Given the description of an element on the screen output the (x, y) to click on. 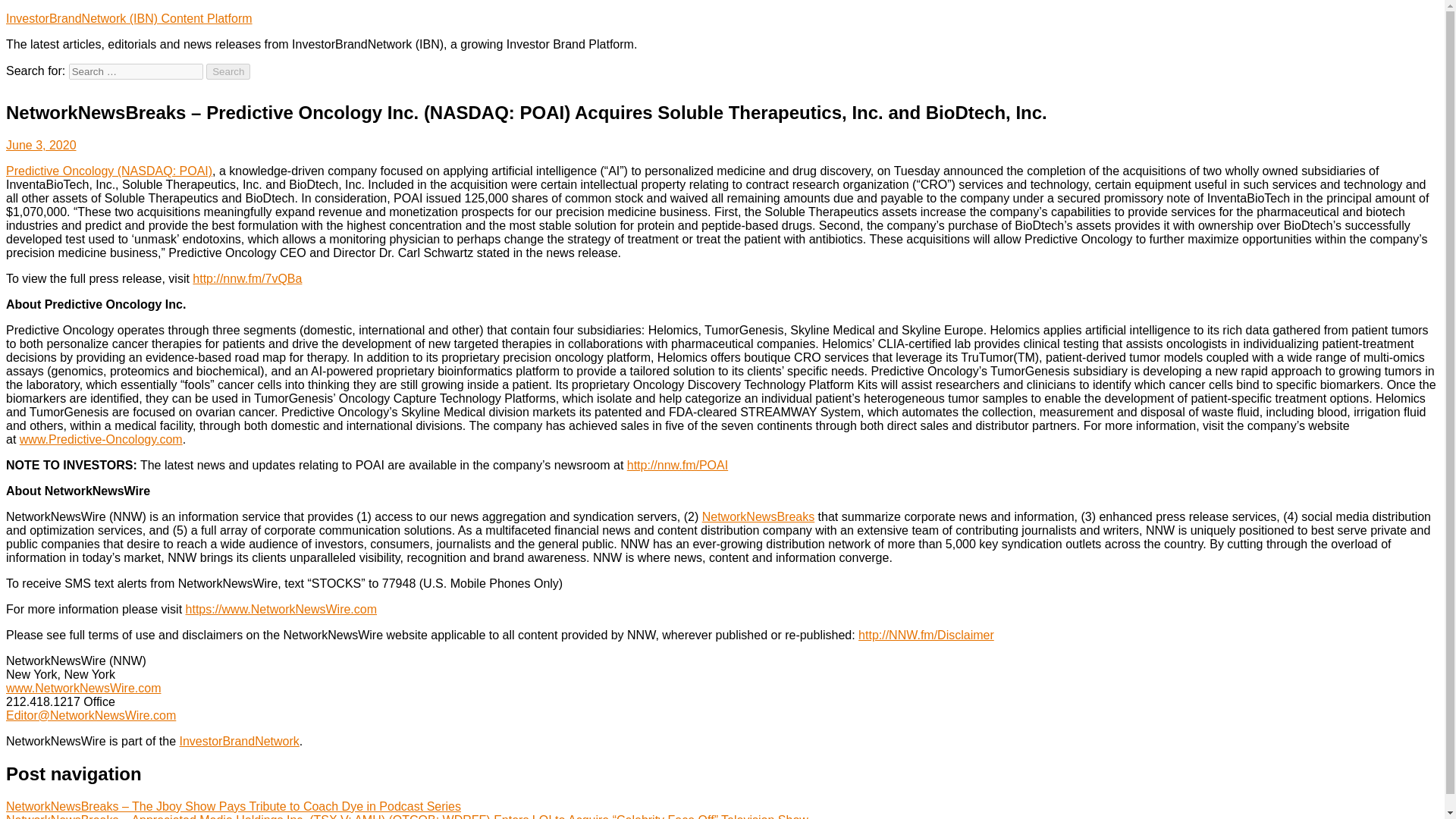
NetworkNewsBreaks (757, 516)
June 3, 2020 (41, 144)
www.NetworkNewsWire.com (82, 687)
InvestorBrandNetwork (239, 740)
Search (228, 71)
Search (228, 71)
Search (228, 71)
www.Predictive-Oncology.com (101, 439)
